Given the description of an element on the screen output the (x, y) to click on. 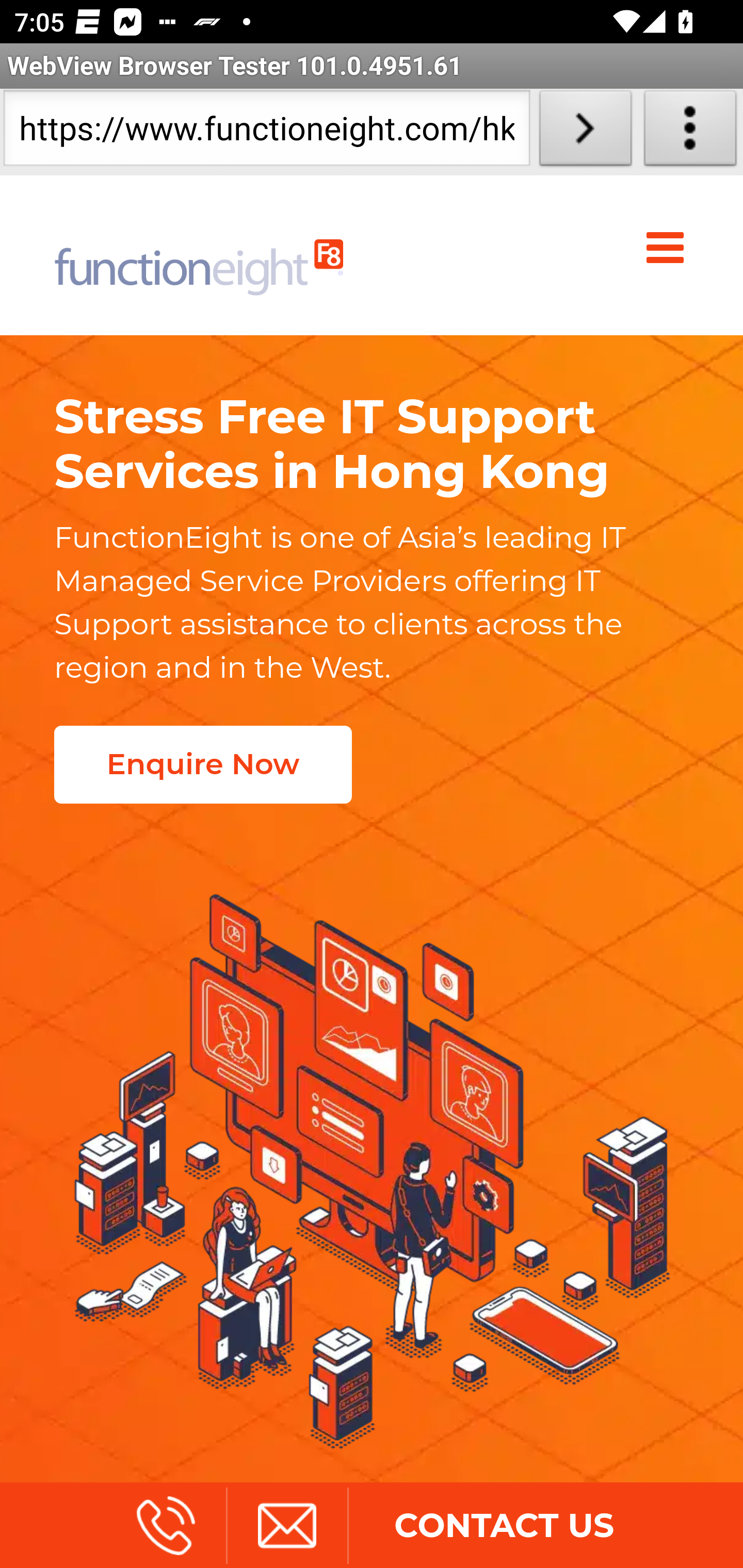
Load URL (585, 132)
About WebView (690, 132)
FunctionEight Hong Kong Logo (199, 254)
Toggle mobile menu  (668, 248)
Enquire Now (202, 764)
email (286, 1524)
CONTACT US (504, 1524)
